Given the description of an element on the screen output the (x, y) to click on. 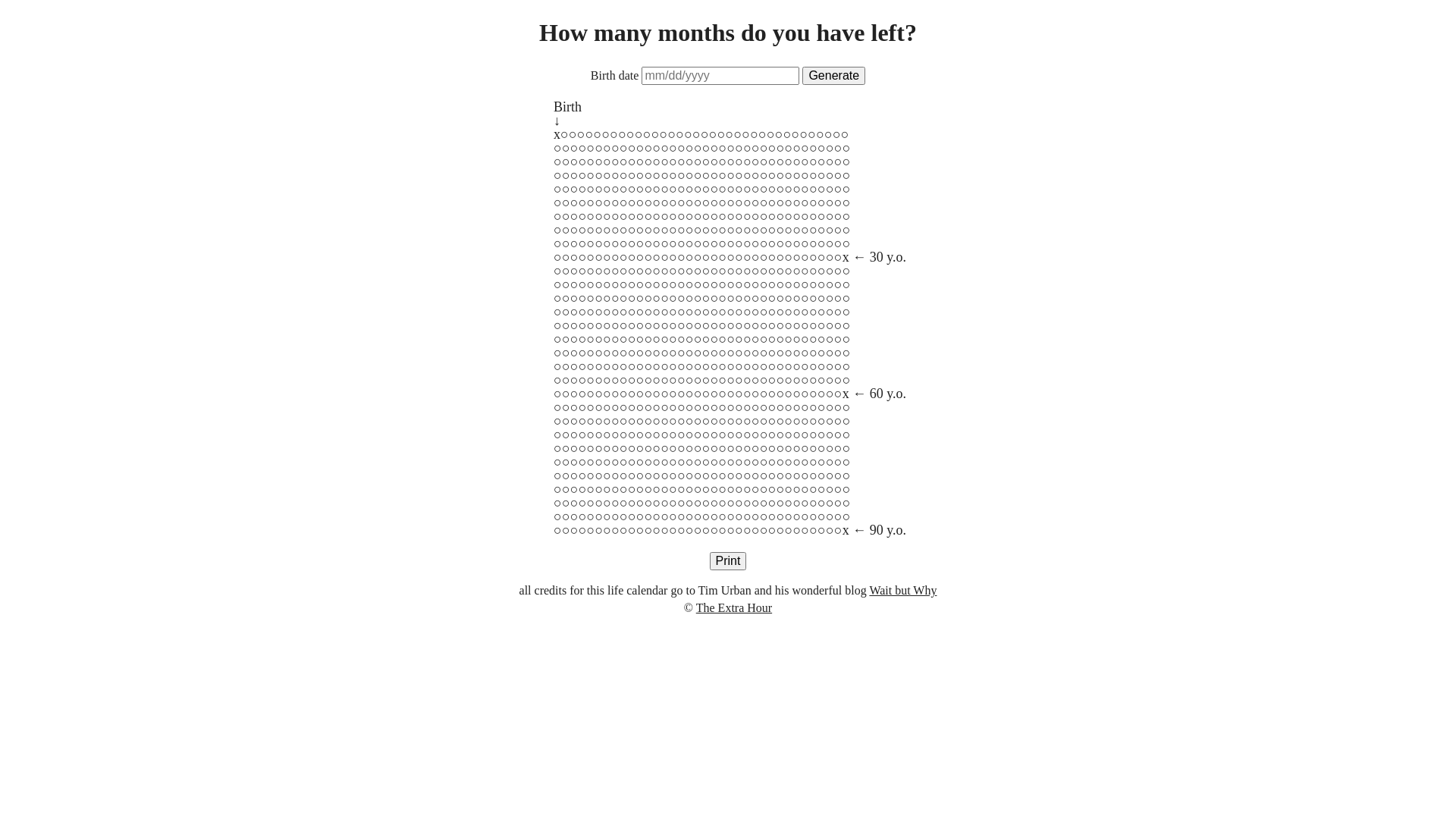
Print Element type: text (727, 561)
Wait but Why Element type: text (902, 589)
Generate Element type: text (833, 75)
The Extra Hour Element type: text (733, 607)
